Given the description of an element on the screen output the (x, y) to click on. 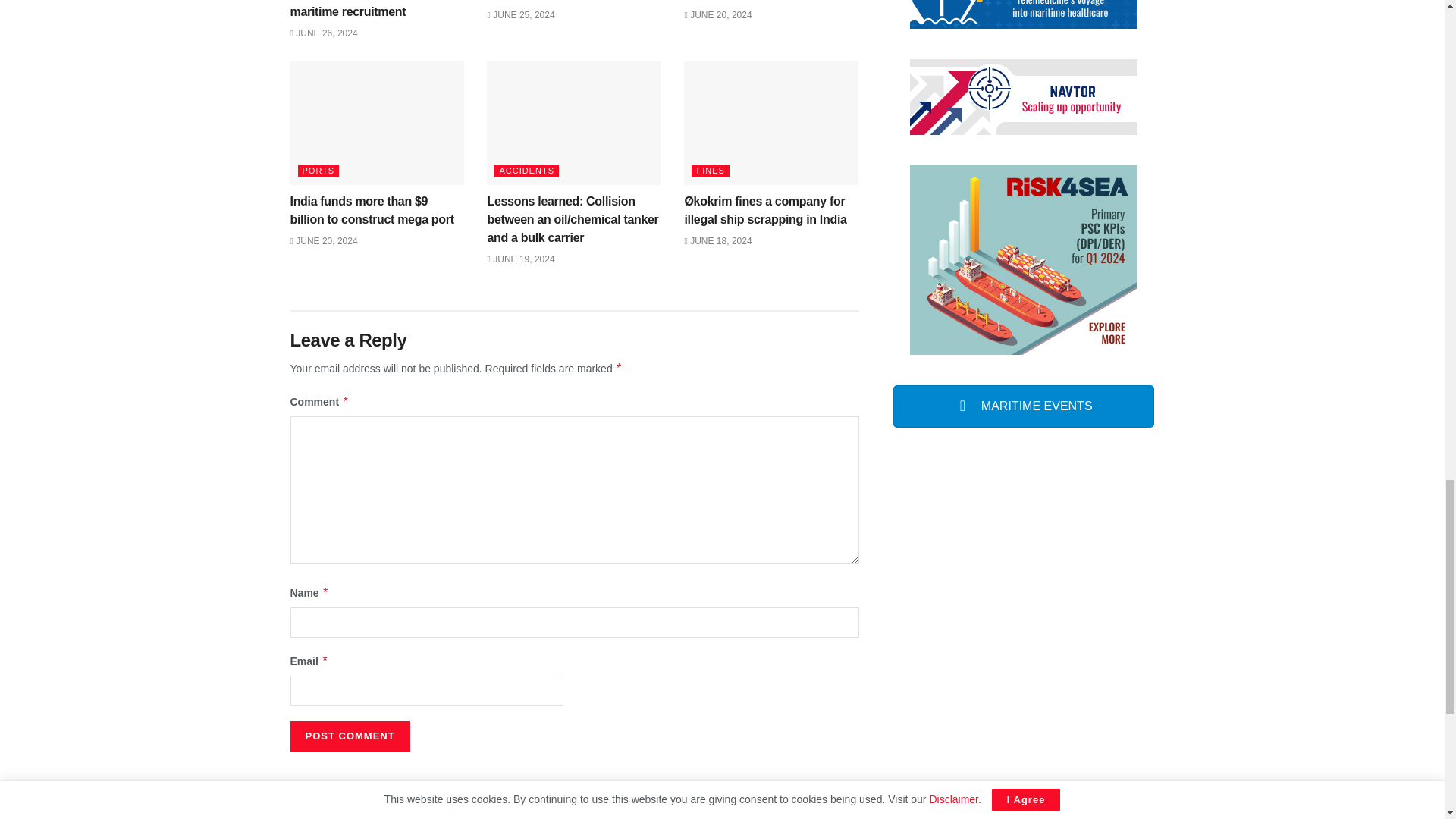
Post Comment (349, 736)
